Given the description of an element on the screen output the (x, y) to click on. 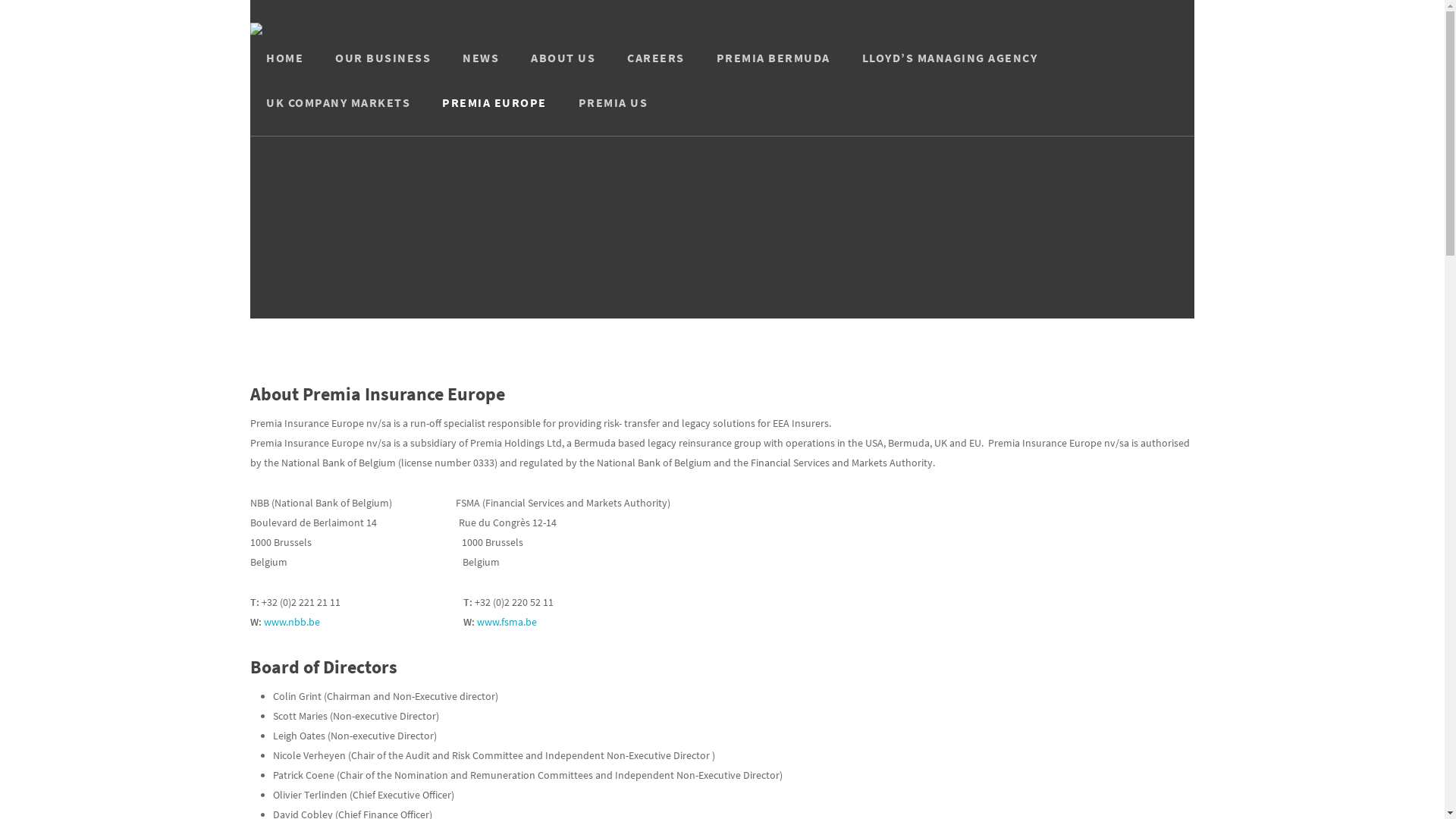
UK COMPANY MARKETS Element type: text (338, 113)
www.fsma.be Element type: text (506, 621)
PREMIA EUROPE Element type: text (493, 113)
PREMIA US Element type: text (612, 113)
ABOUT US Element type: text (562, 68)
NEWS Element type: text (480, 68)
PREMIA BERMUDA Element type: text (772, 68)
www.nbb.be Element type: text (291, 621)
CAREERS Element type: text (655, 68)
HOME Element type: text (284, 68)
OUR BUSINESS Element type: text (382, 68)
